Given the description of an element on the screen output the (x, y) to click on. 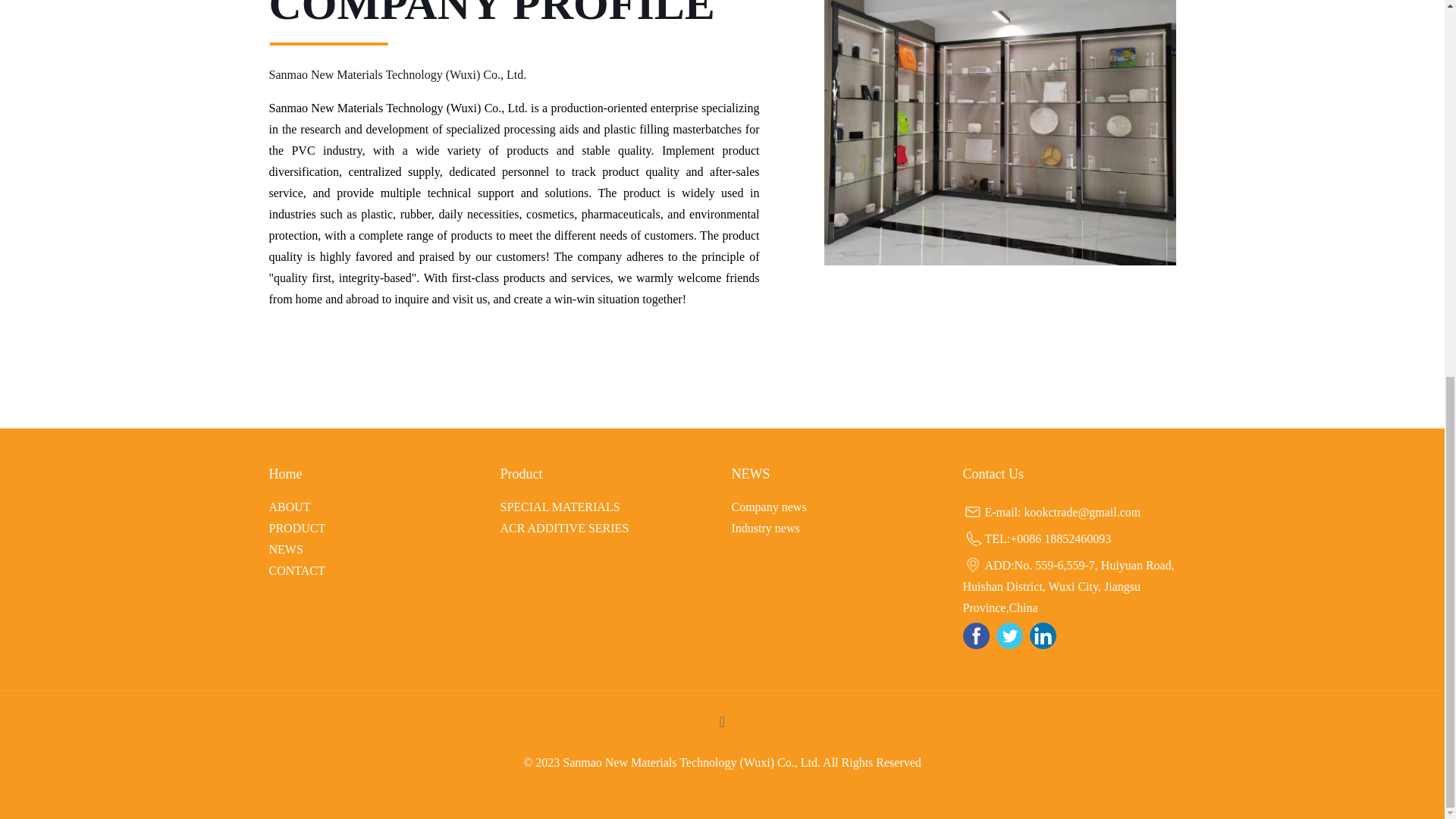
SPECIAL MATERIALS (560, 506)
Industry news (764, 527)
ACR ADDITIVE SERIES (564, 527)
PRODUCT (295, 527)
CONTACT (295, 570)
ABOUT (288, 506)
NEWS (284, 549)
Company news (768, 506)
